Given the description of an element on the screen output the (x, y) to click on. 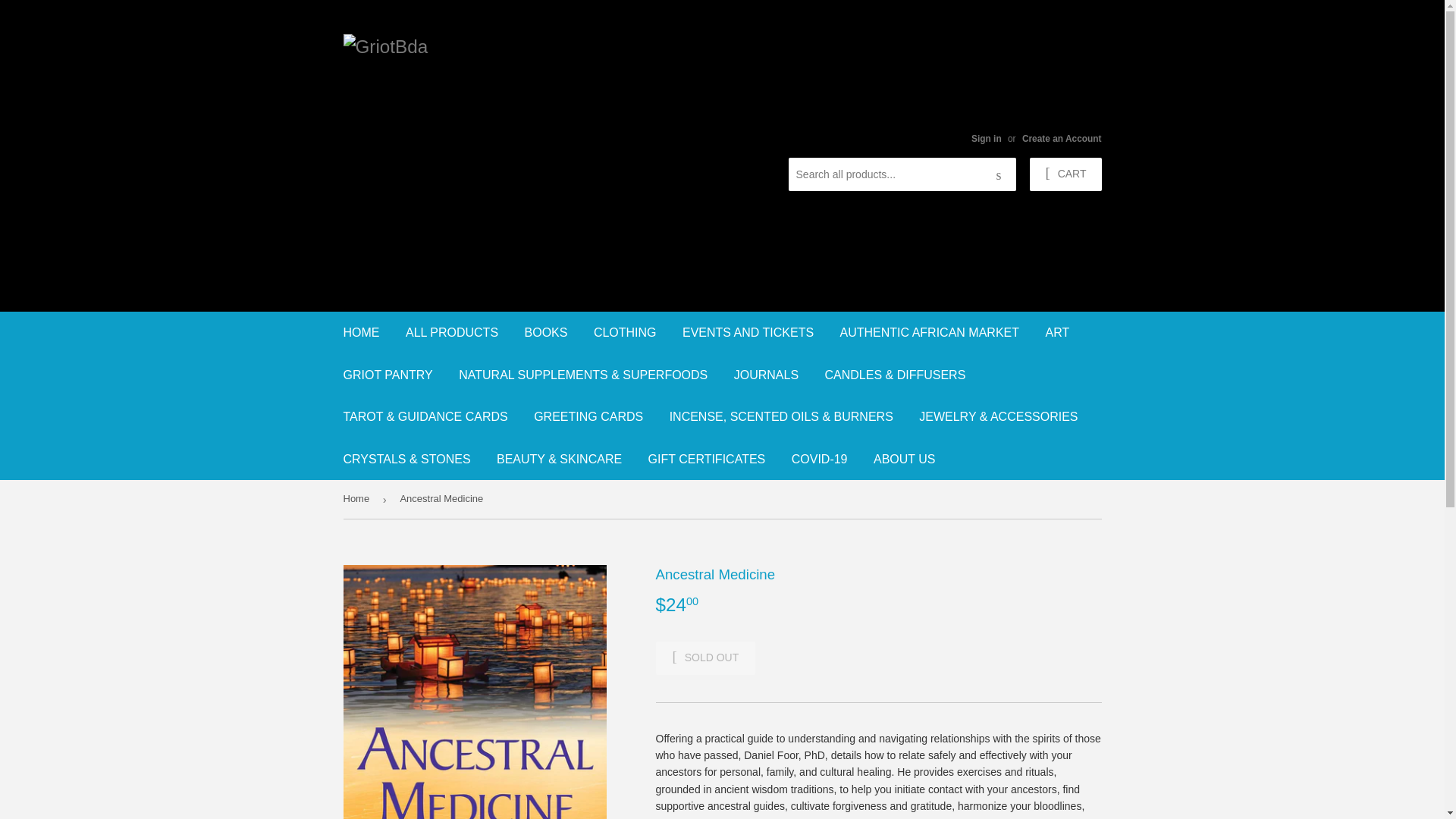
Create an Account (1062, 138)
Search (998, 174)
GRIOT PANTRY (387, 373)
EVENTS AND TICKETS (748, 332)
BOOKS (546, 332)
AUTHENTIC AFRICAN MARKET (929, 332)
ART (1056, 332)
HOME (361, 332)
Sign in (986, 138)
JOURNALS (765, 373)
